Given the description of an element on the screen output the (x, y) to click on. 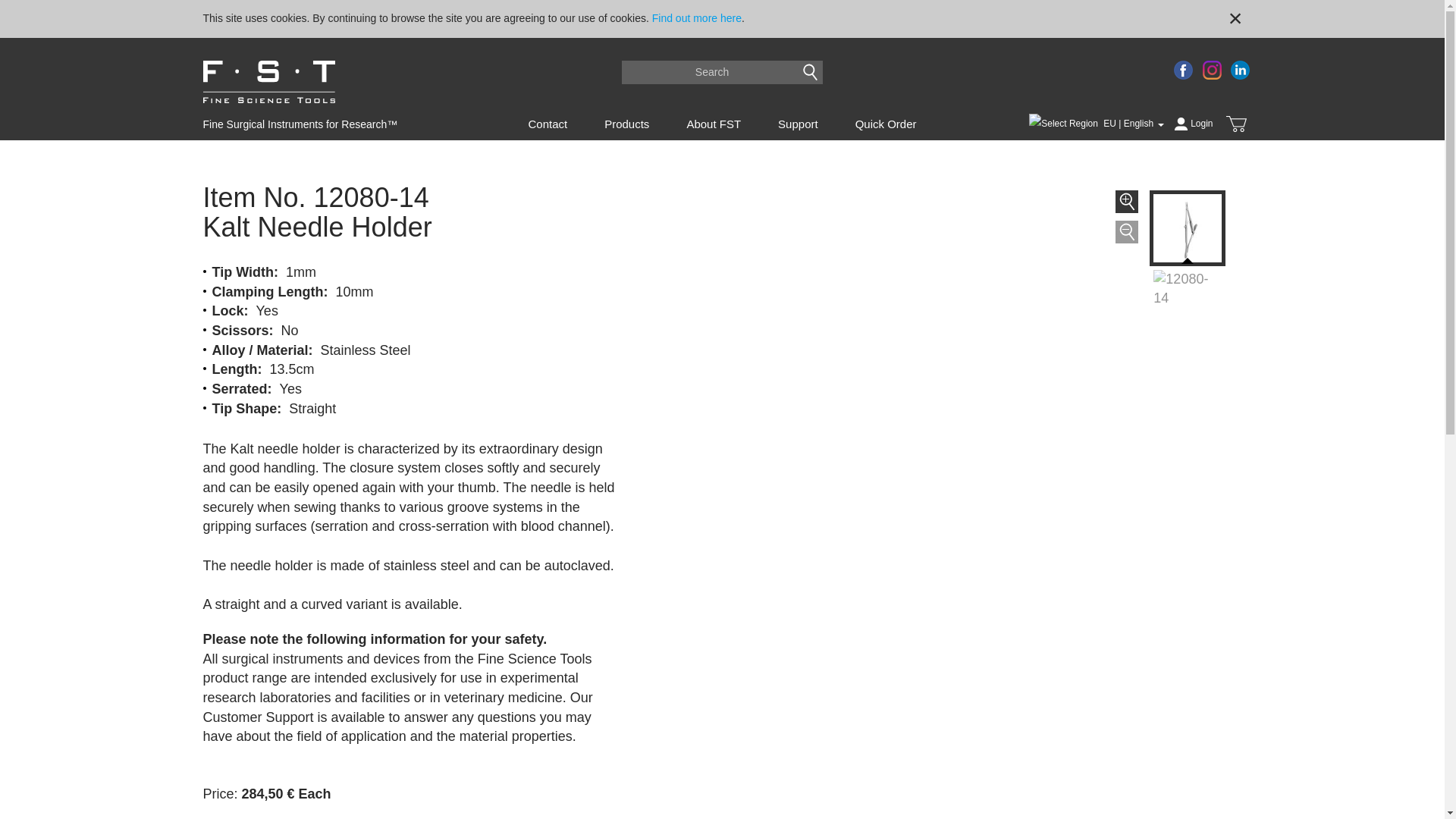
Contact (547, 123)
Find out more here (696, 18)
Products (626, 123)
